Given the description of an element on the screen output the (x, y) to click on. 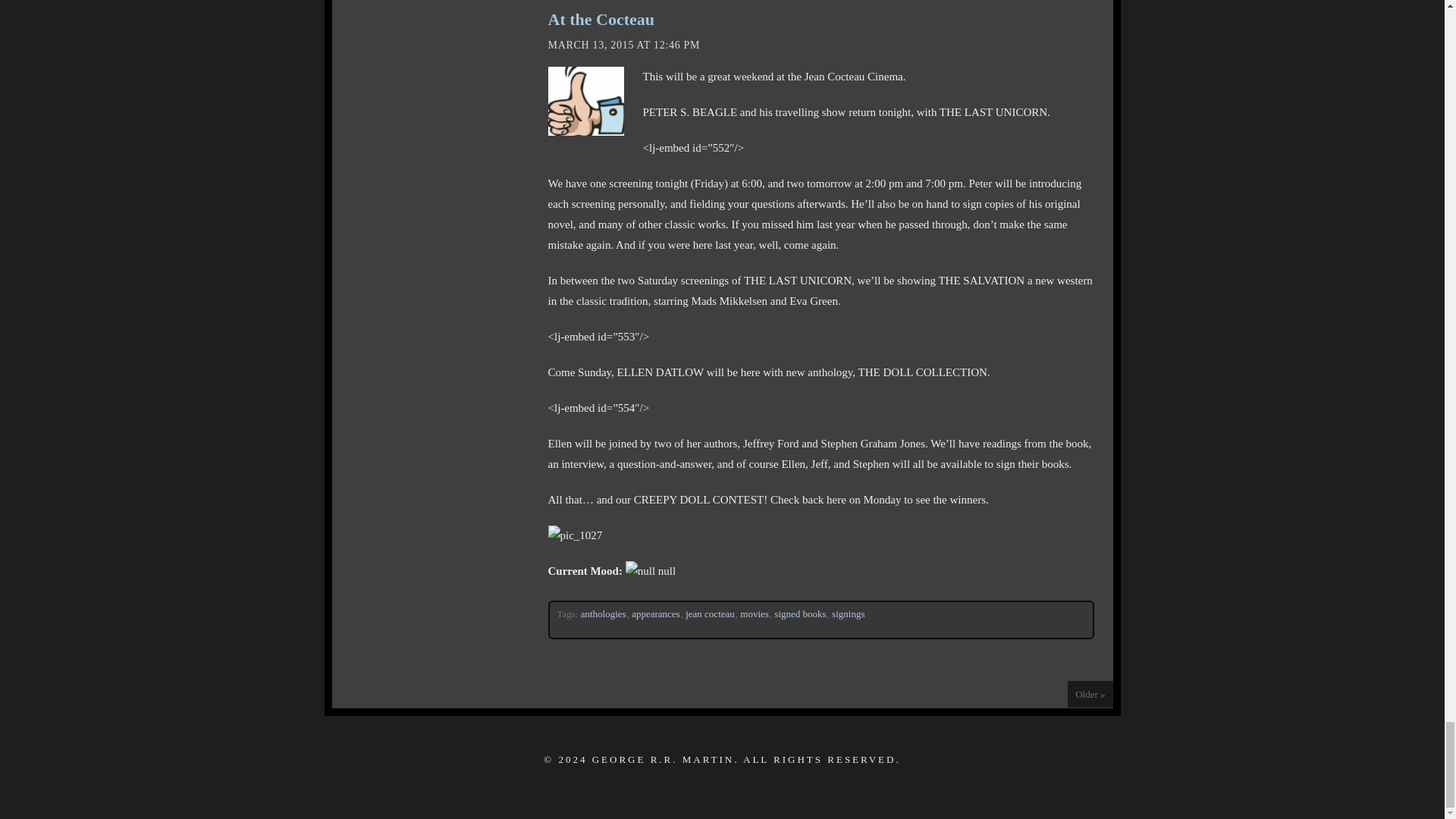
At the Cocteau (600, 18)
anthologies (603, 613)
appearances (656, 613)
